Given the description of an element on the screen output the (x, y) to click on. 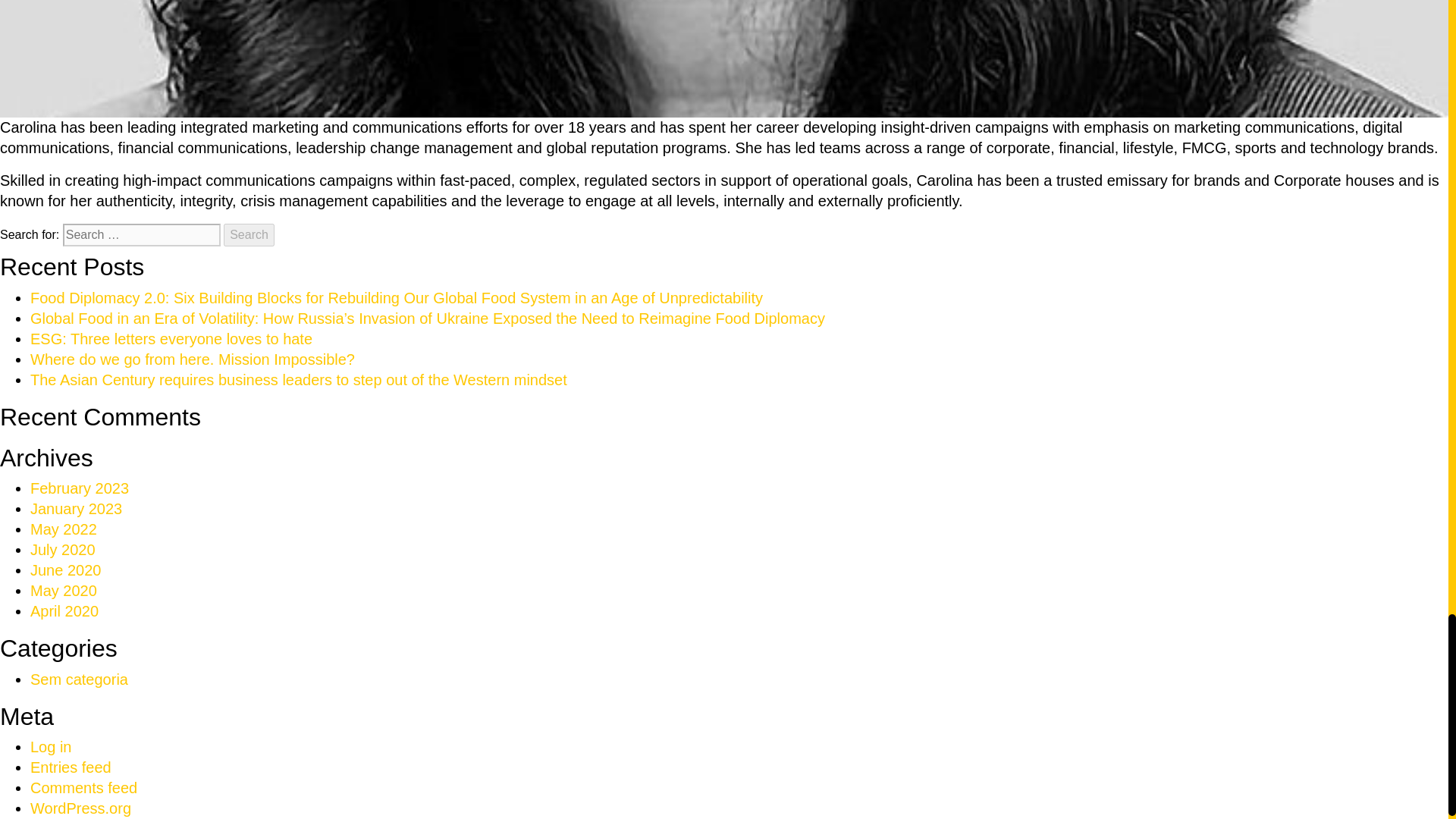
Sem categoria (79, 678)
WordPress.org (80, 808)
Search (249, 234)
Comments feed (83, 787)
April 2020 (64, 610)
Log in (50, 746)
January 2023 (76, 508)
ESG: Three letters everyone loves to hate (171, 338)
Where do we go from here. Mission Impossible? (192, 359)
Entries feed (71, 767)
Search (249, 234)
May 2022 (63, 528)
July 2020 (63, 549)
